Given the description of an element on the screen output the (x, y) to click on. 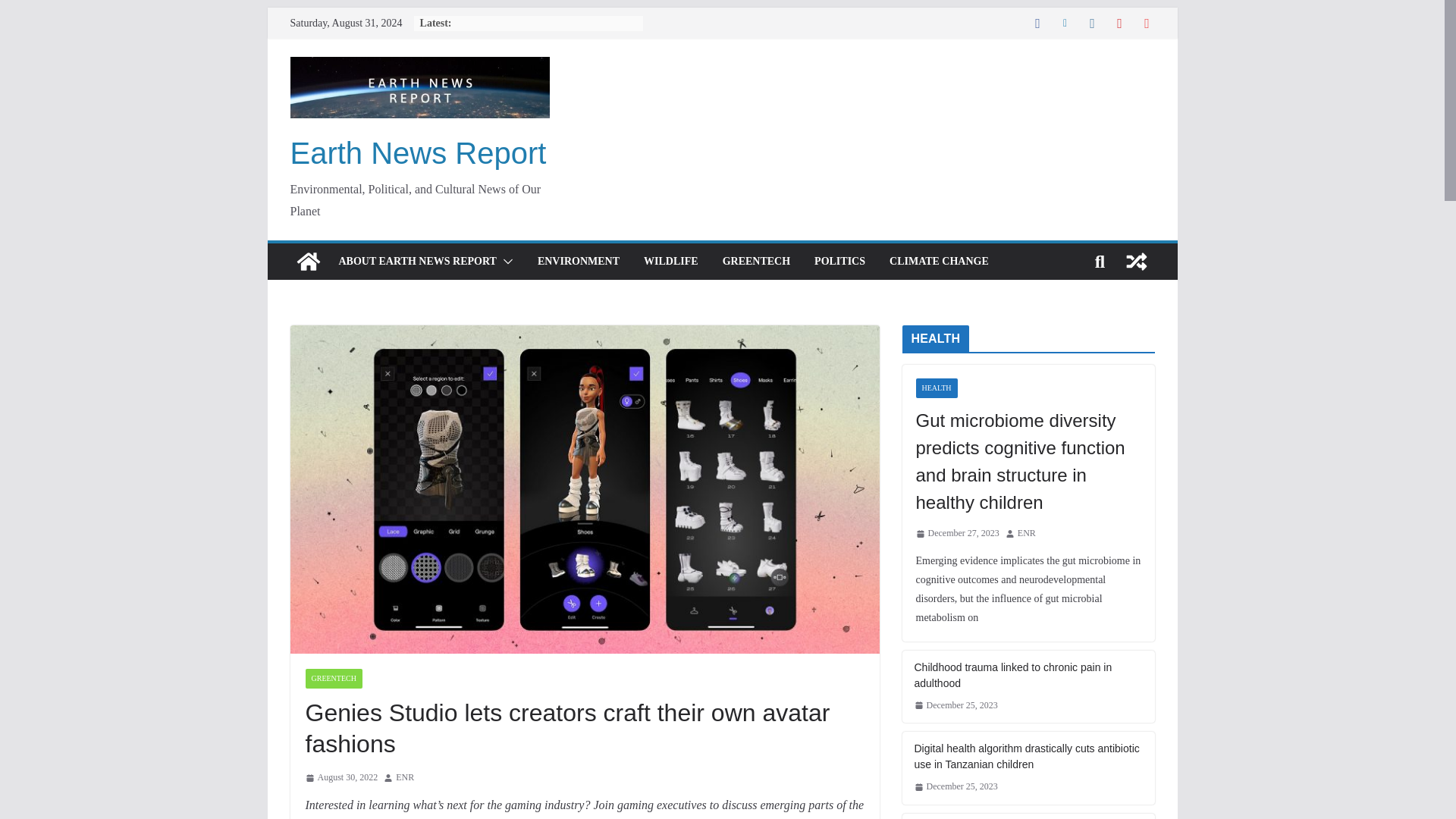
Earth News Report (307, 261)
Earth News Report (417, 152)
GREENTECH (332, 678)
ENR (404, 777)
ENR (404, 777)
CLIMATE CHANGE (938, 260)
POLITICS (838, 260)
ABOUT EARTH NEWS REPORT (416, 260)
View a random post (1136, 261)
